Given the description of an element on the screen output the (x, y) to click on. 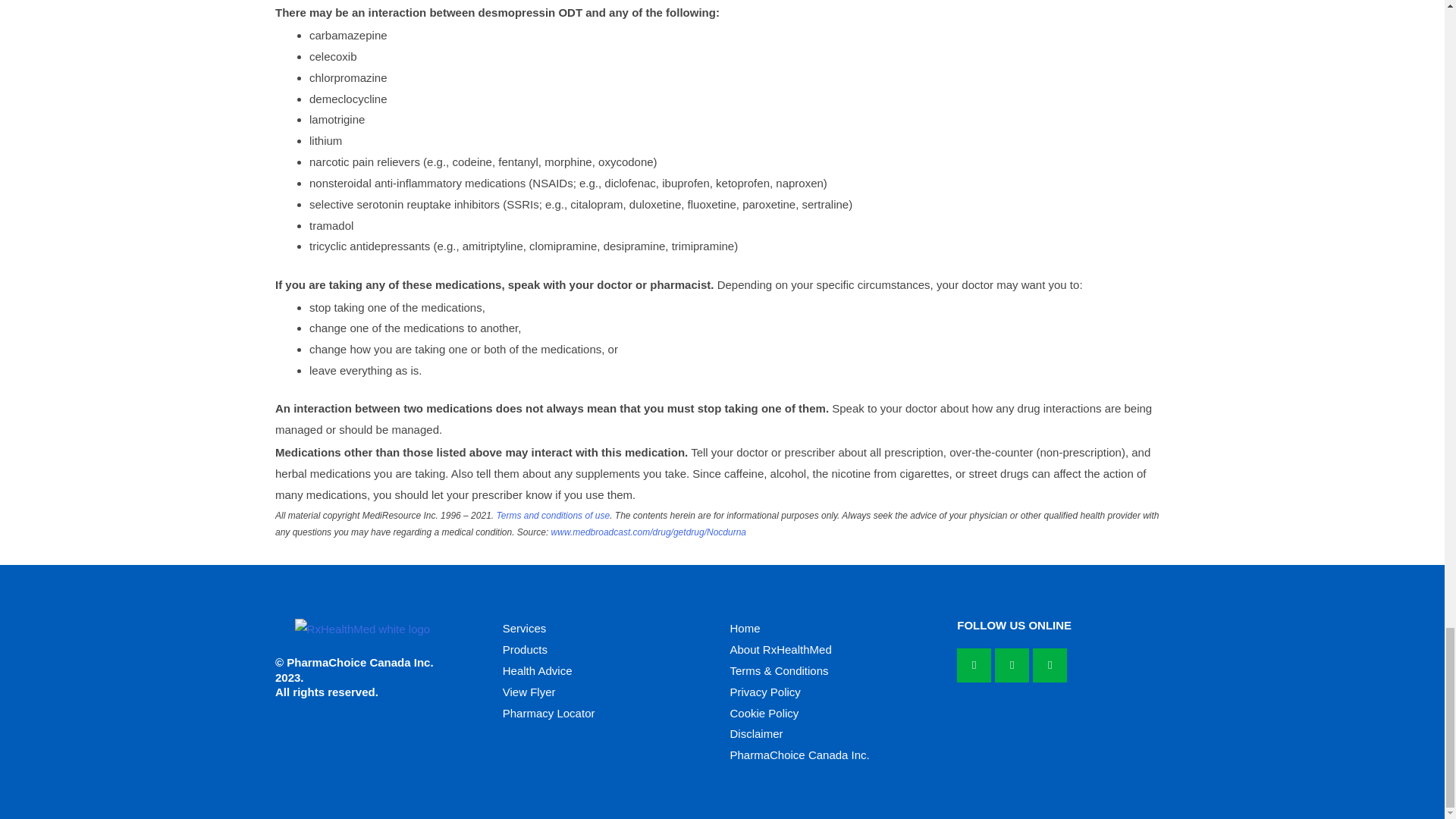
RxHealthMed white logo (362, 629)
